Given the description of an element on the screen output the (x, y) to click on. 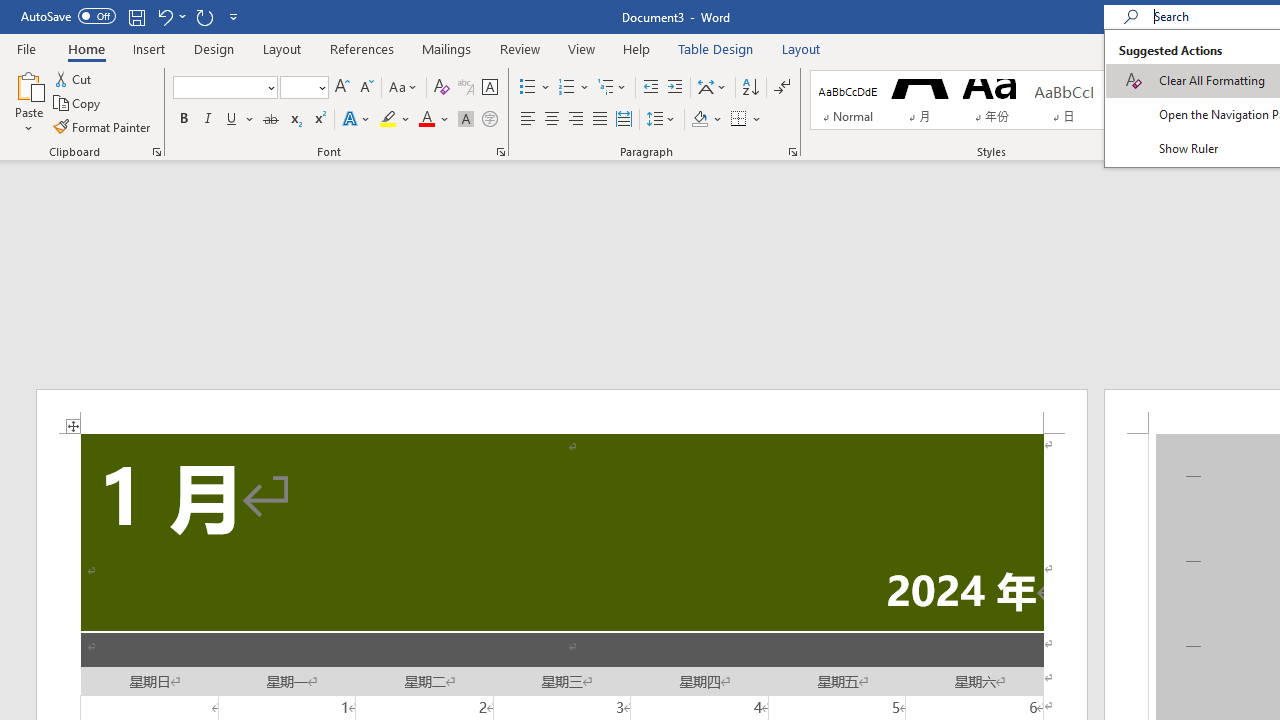
Format Painter (103, 126)
Select (1242, 124)
Design (214, 48)
Office Clipboard... (156, 151)
Show/Hide Editing Marks (781, 87)
Mailings (447, 48)
Center (552, 119)
Align Left (527, 119)
Decrease Indent (650, 87)
Subscript (294, 119)
Borders (739, 119)
References (362, 48)
Strikethrough (270, 119)
Shrink Font (365, 87)
